Given the description of an element on the screen output the (x, y) to click on. 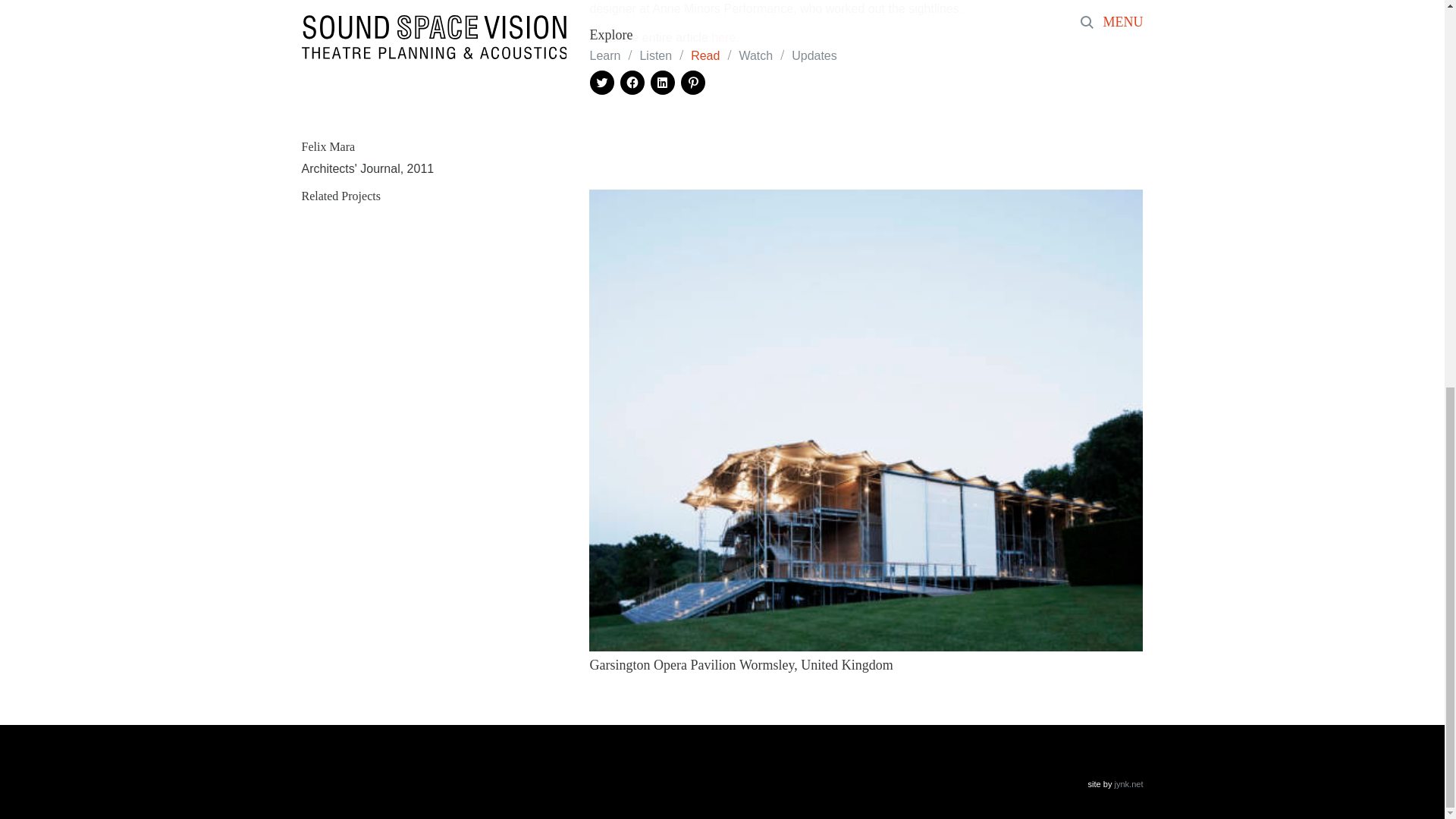
jynk.net (1127, 783)
Garsington Opera Pavilion (865, 419)
Click to share on Twitter (601, 82)
Click to share on Pinterest (692, 82)
Click to share on Facebook (632, 82)
here (723, 37)
Garsington Opera Pavilion (662, 664)
Click to share on LinkedIn (662, 82)
